Given the description of an element on the screen output the (x, y) to click on. 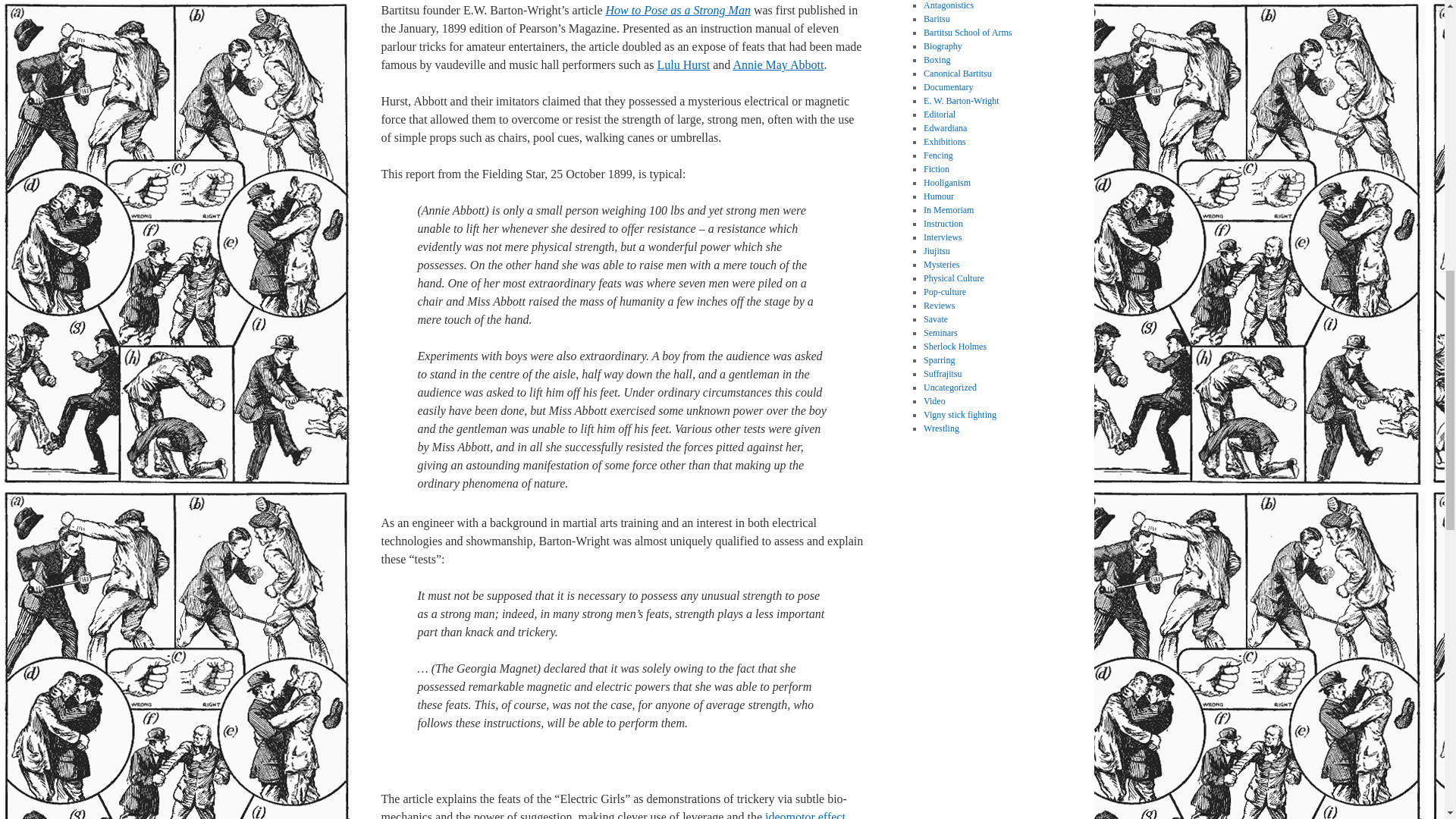
Annie May Abbott (778, 64)
How to Pose as a Strong Man (678, 10)
Lulu Hurst (683, 64)
ideomotor effect (805, 814)
